Given the description of an element on the screen output the (x, y) to click on. 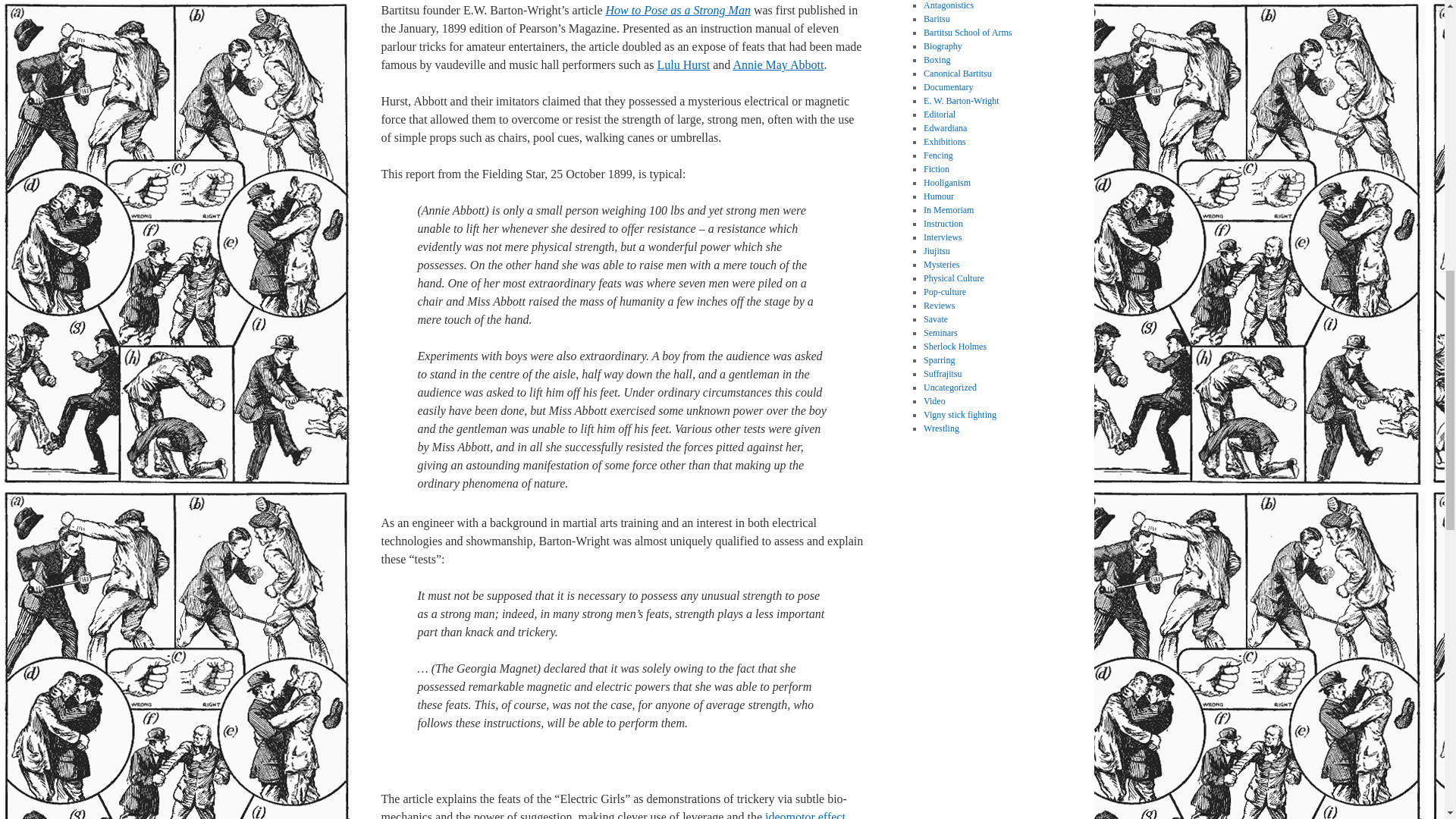
Annie May Abbott (778, 64)
How to Pose as a Strong Man (678, 10)
Lulu Hurst (683, 64)
ideomotor effect (805, 814)
